Given the description of an element on the screen output the (x, y) to click on. 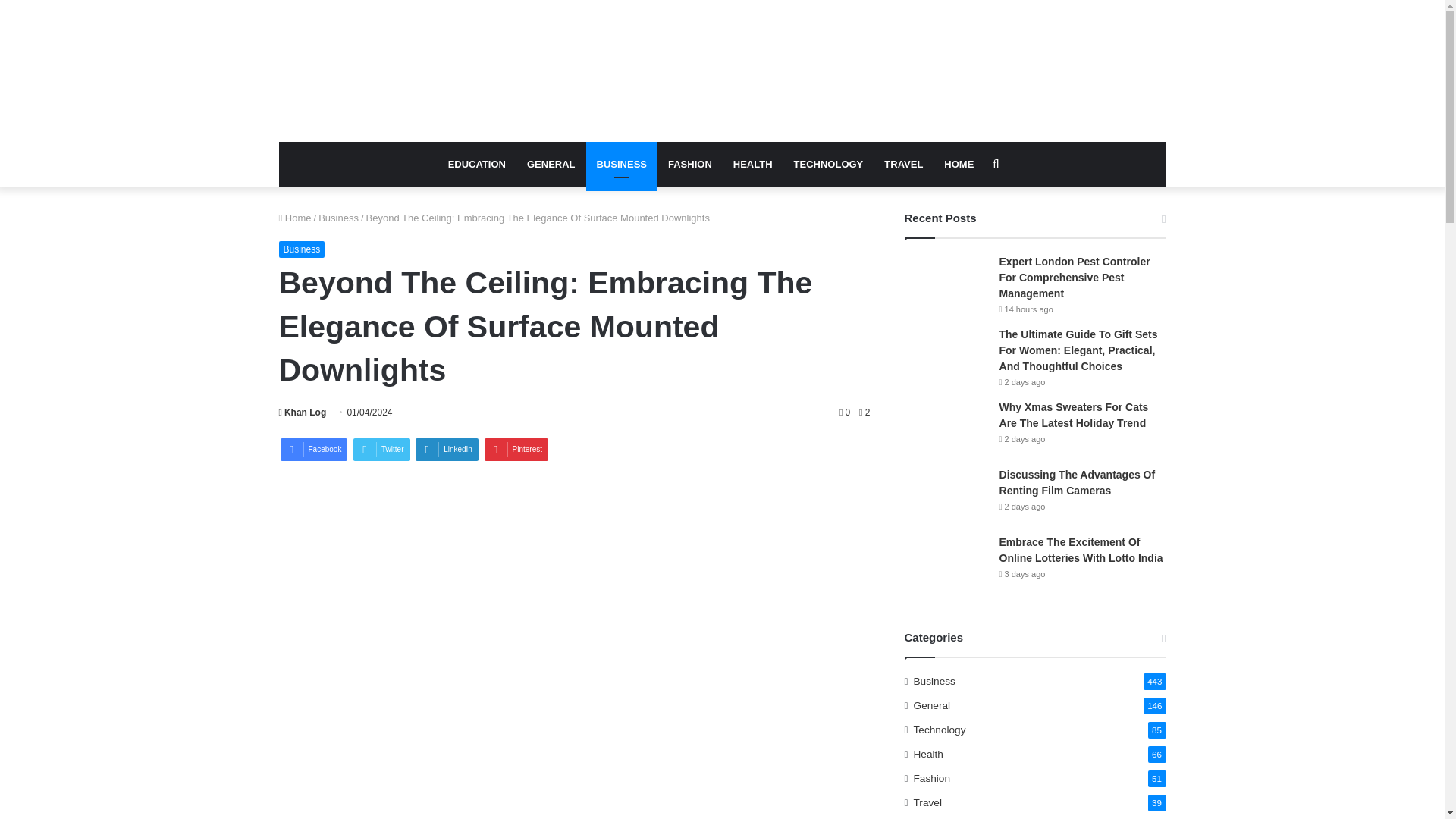
HOME (958, 164)
Business (338, 217)
Twitter (381, 449)
LinkedIn (446, 449)
Khan Log (302, 412)
Twitter (381, 449)
GENERAL (551, 164)
Khan Log (302, 412)
EDUCATION (477, 164)
Business (301, 248)
